Given the description of an element on the screen output the (x, y) to click on. 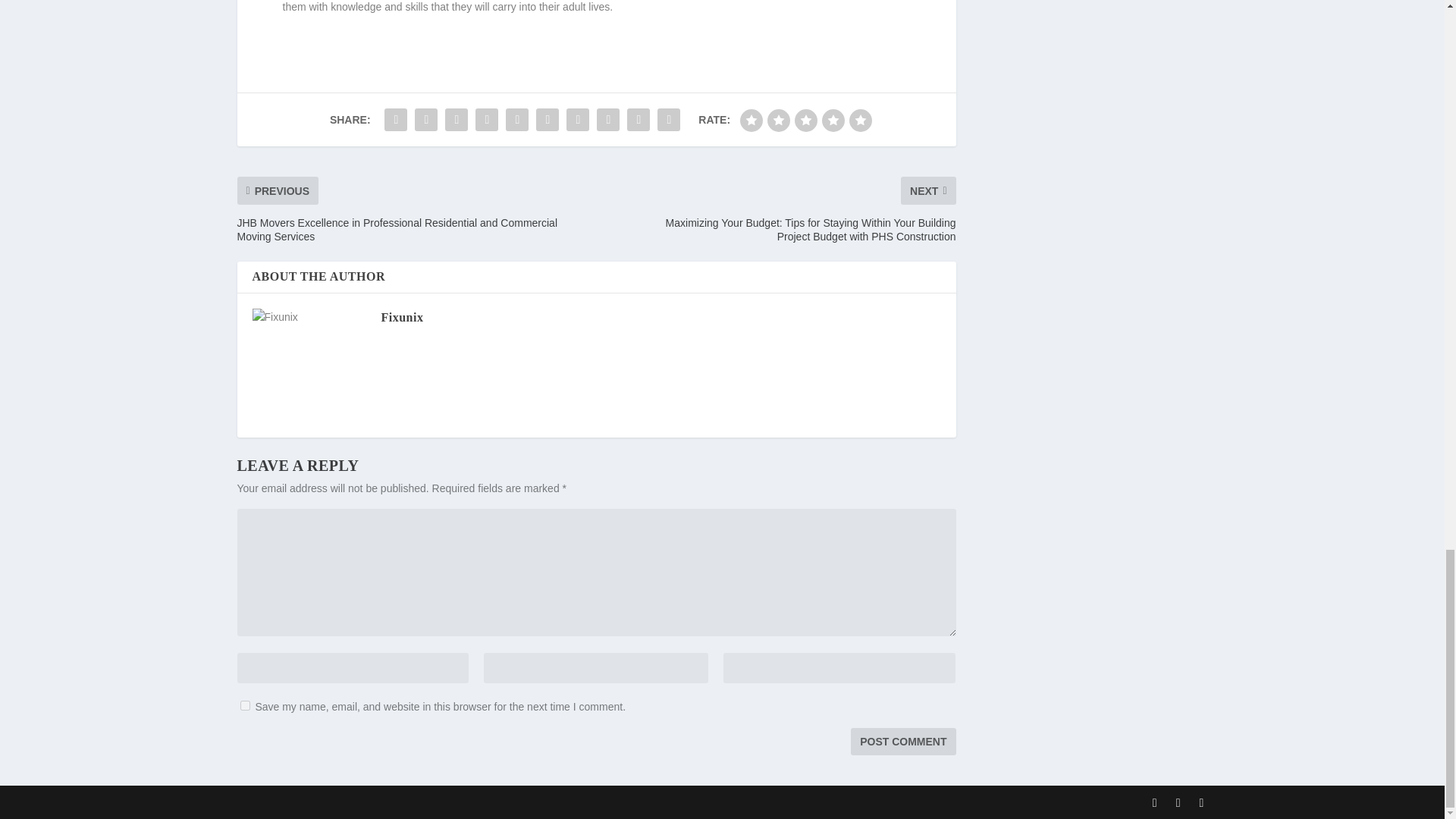
Post Comment (902, 741)
yes (244, 705)
